Given the description of an element on the screen output the (x, y) to click on. 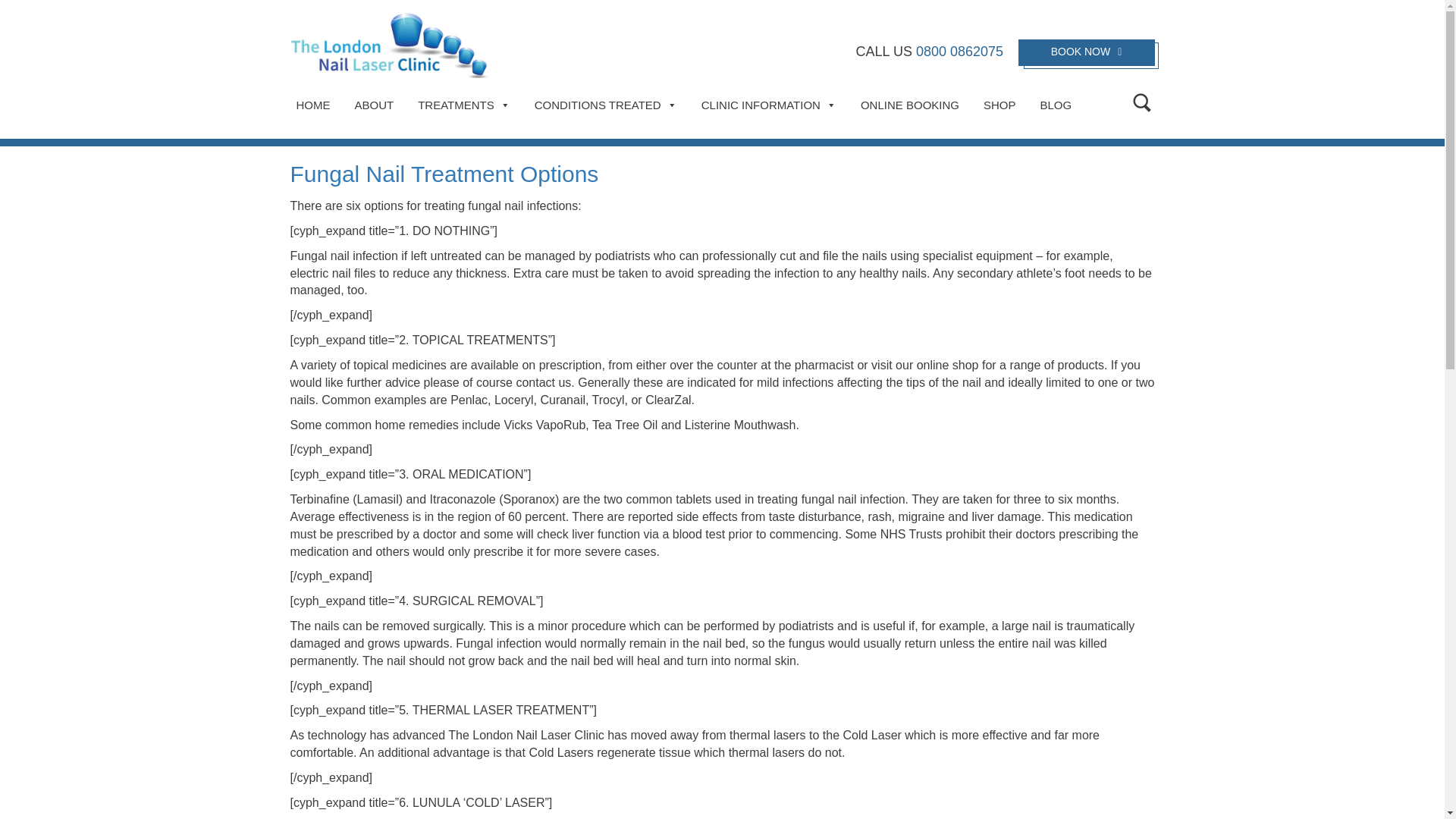
CLINIC INFORMATION (775, 105)
BOOK NOW (1085, 52)
BLOG (1061, 105)
Fungal Nail Treatment Options (443, 173)
ONLINE BOOKING (917, 105)
0800 0862075 (959, 51)
SHOP (1006, 105)
CONDITIONS TREATED (612, 105)
ABOUT (380, 105)
TREATMENTS (470, 105)
